Given the description of an element on the screen output the (x, y) to click on. 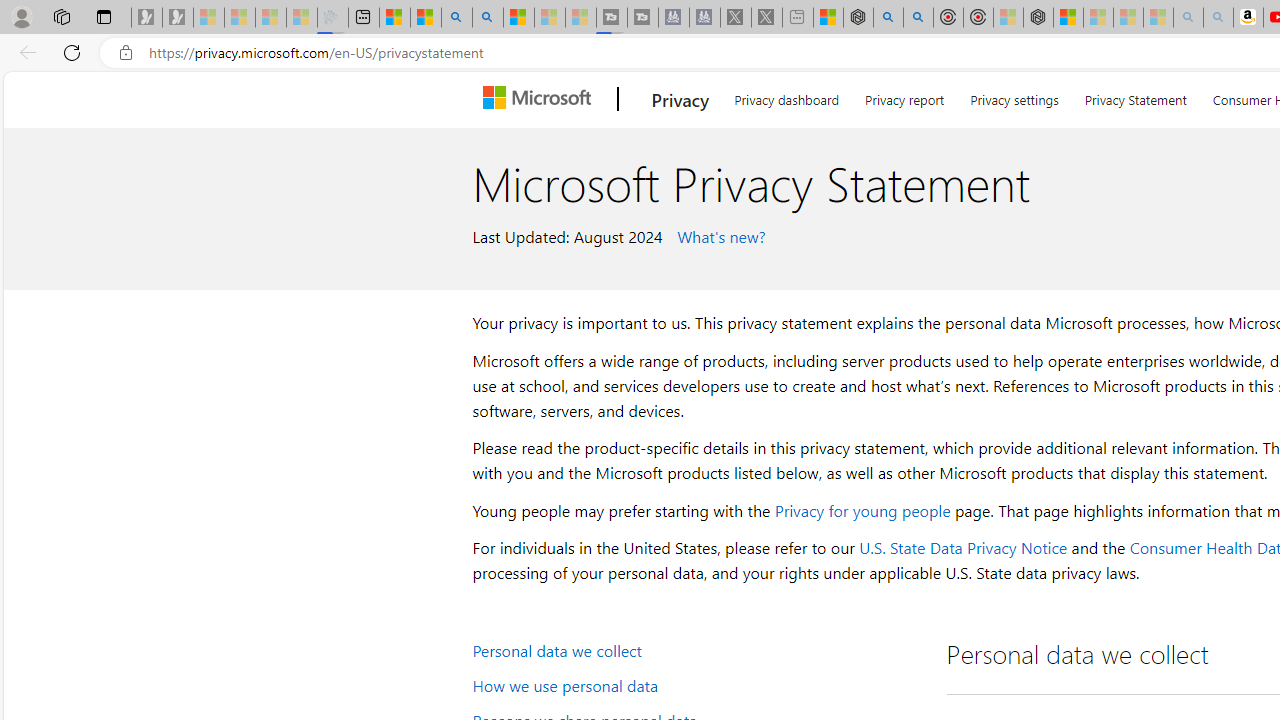
Privacy settings (1014, 96)
Personal data we collect (696, 650)
Amazon Echo Dot PNG - Search Images - Sleeping (1218, 17)
Privacy dashboard (786, 96)
Privacy for young people (862, 509)
Newsletter Sign Up - Sleeping (177, 17)
 What's new? (718, 235)
